Given the description of an element on the screen output the (x, y) to click on. 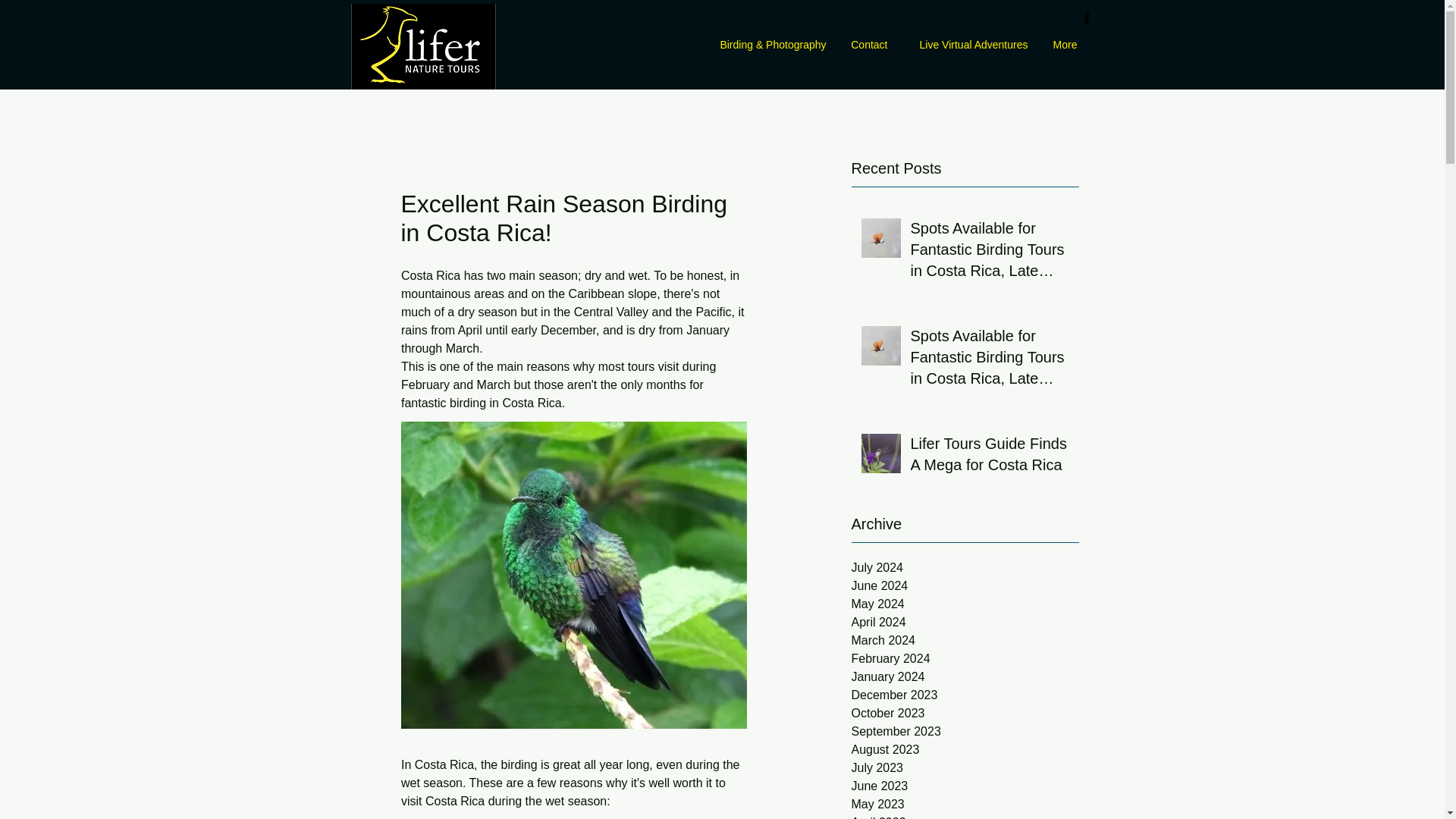
June 2024 (964, 586)
July 2024 (964, 567)
April 2024 (964, 622)
July 2023 (964, 768)
May 2023 (964, 804)
May 2024 (964, 604)
October 2023 (964, 713)
Lifer Tours Guide Finds A Mega for Costa Rica (989, 457)
June 2023 (964, 786)
September 2023 (964, 731)
Contact (867, 44)
February 2024 (964, 659)
March 2024 (964, 640)
Live Virtual Adventures (969, 44)
